Given the description of an element on the screen output the (x, y) to click on. 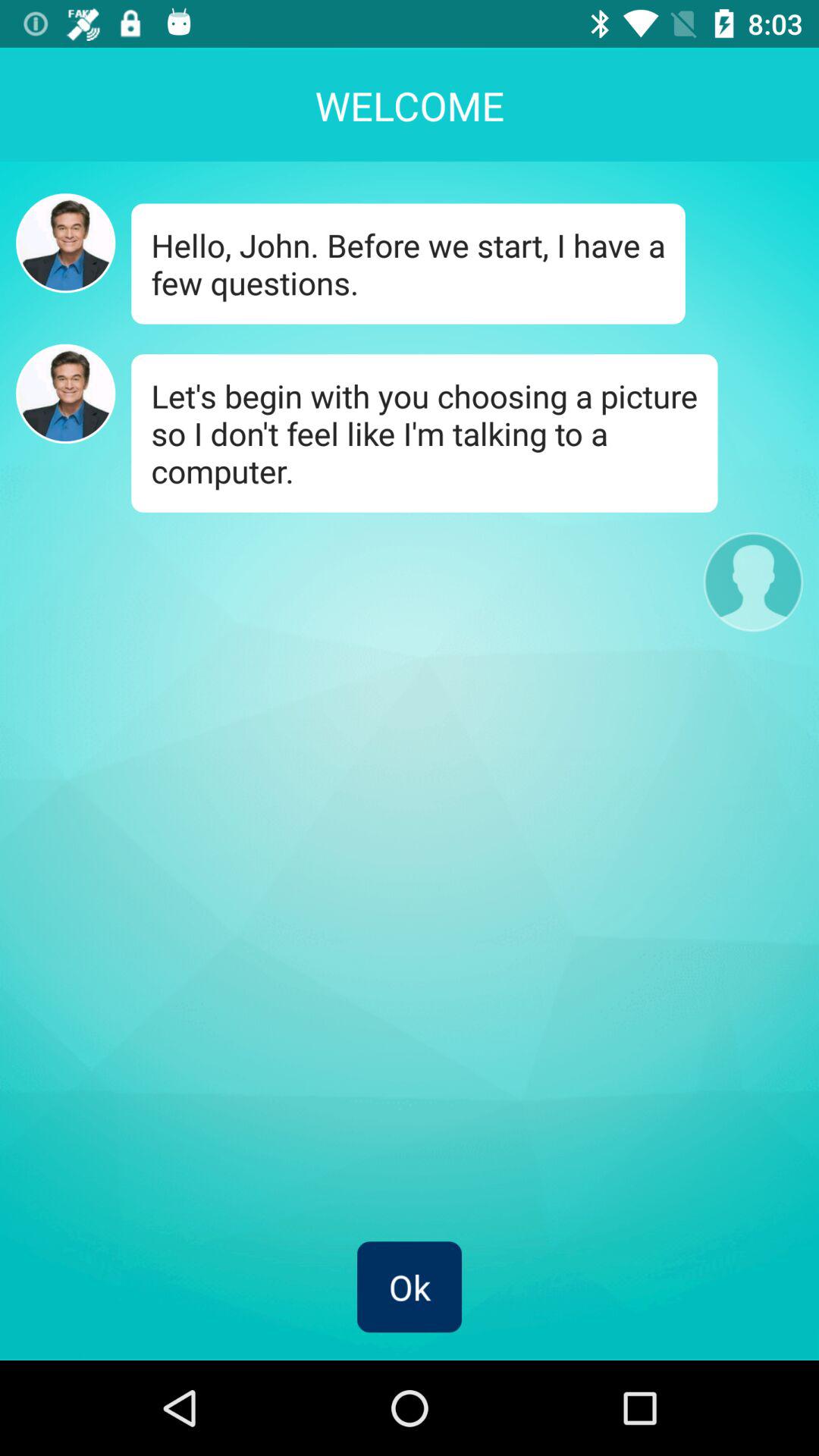
flip until the ok item (409, 1286)
